Given the description of an element on the screen output the (x, y) to click on. 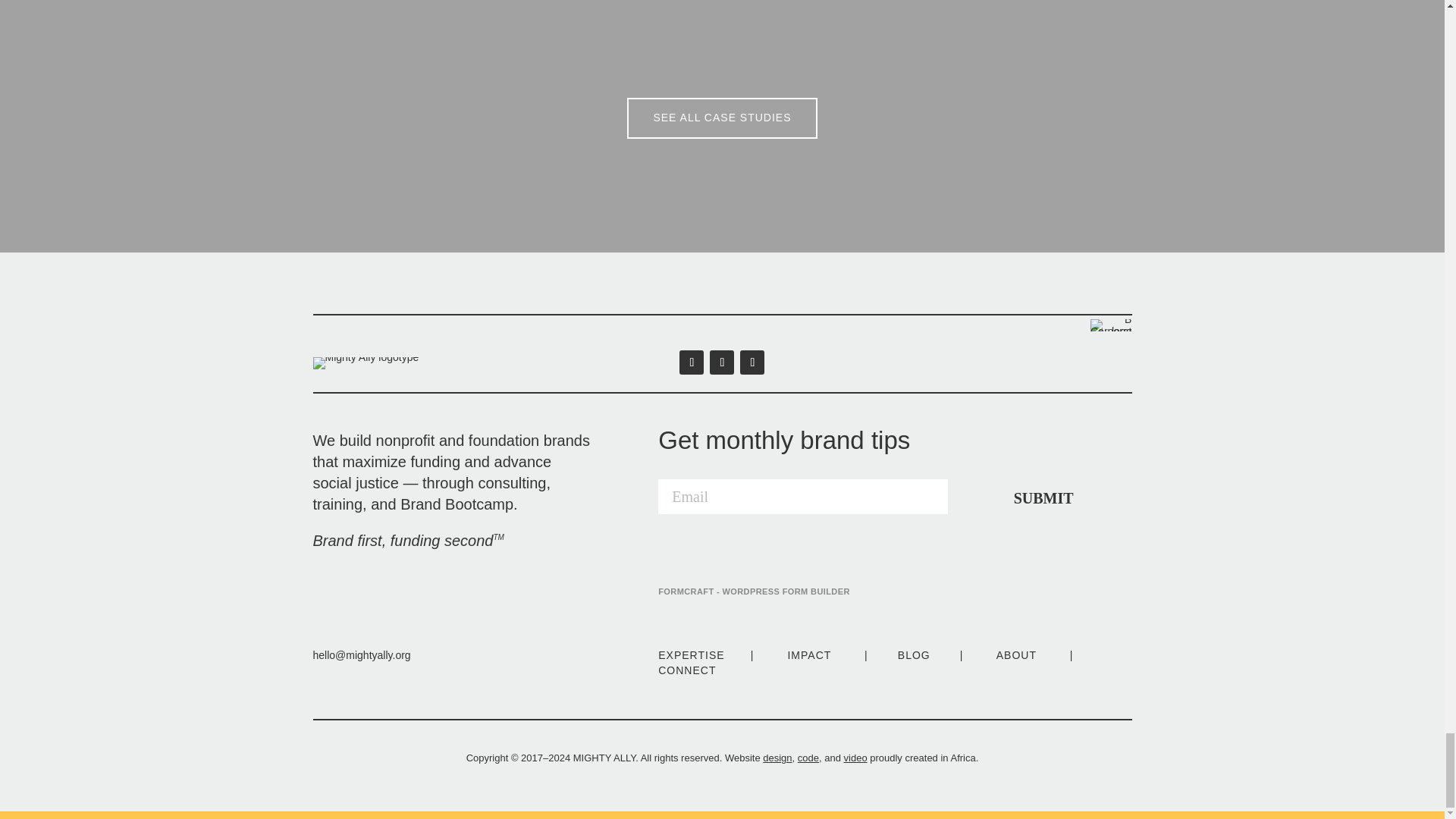
design (777, 757)
SUBMIT (1043, 496)
SEE ALL CASE STUDIES (721, 117)
MIGHTY-ALLY-logotype-black (366, 363)
BLOG (914, 654)
CONNECT (687, 670)
FORMCRAFT - WORDPRESS FORM BUILDER (754, 591)
EXPERTISE (690, 654)
IMPACT (809, 654)
code (807, 757)
ABOUT (1015, 654)
